Given the description of an element on the screen output the (x, y) to click on. 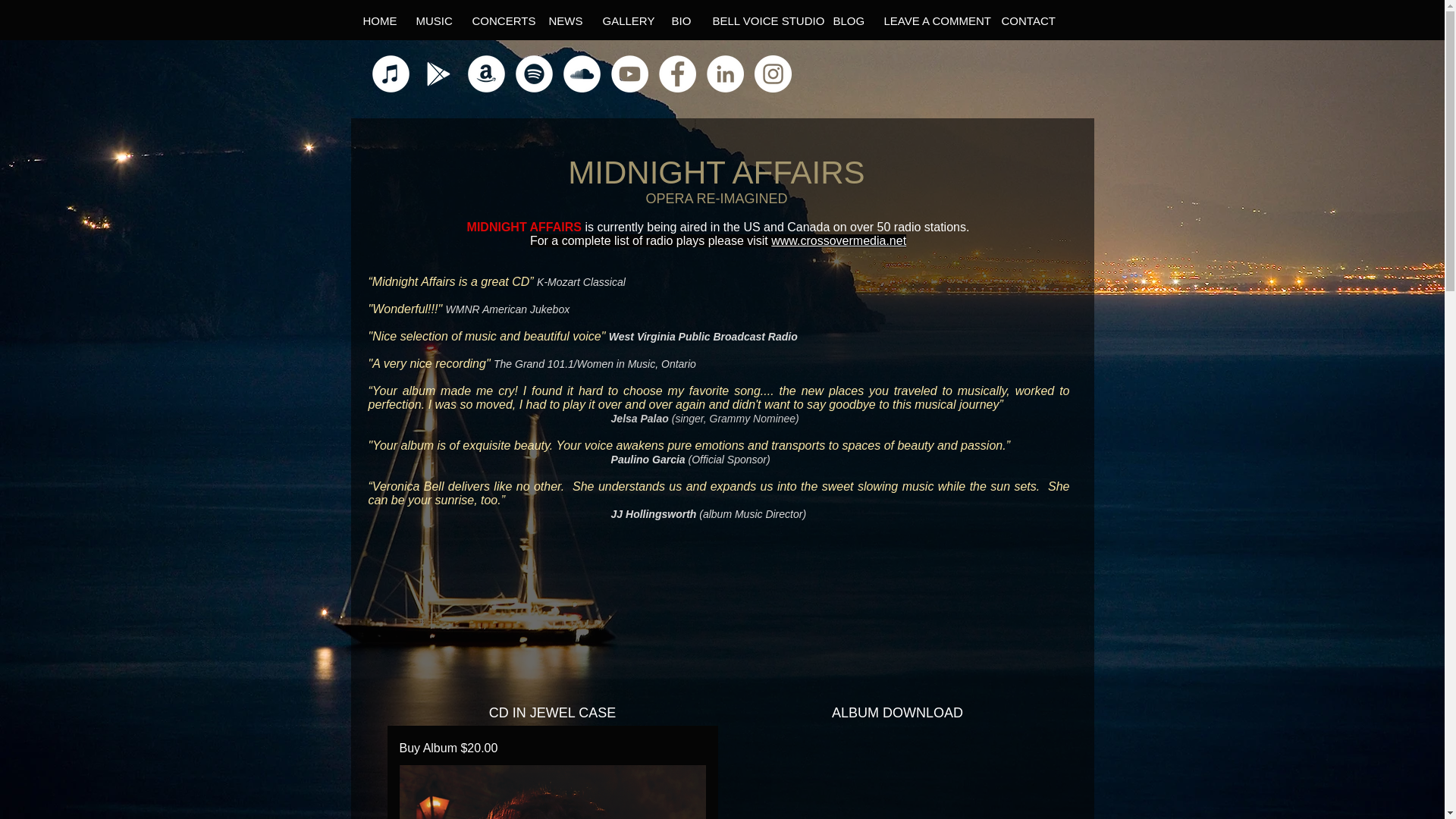
www.crossovermedia.net (838, 240)
BIO (679, 20)
NEWS (564, 20)
MUSIC (431, 20)
LEAVE A COMMENT (931, 20)
HOME (376, 20)
GALLERY (624, 20)
BLOG (845, 20)
BELL VOICE STUDIO (760, 20)
CONCERTS (497, 20)
CONTACT (1022, 20)
